Given the description of an element on the screen output the (x, y) to click on. 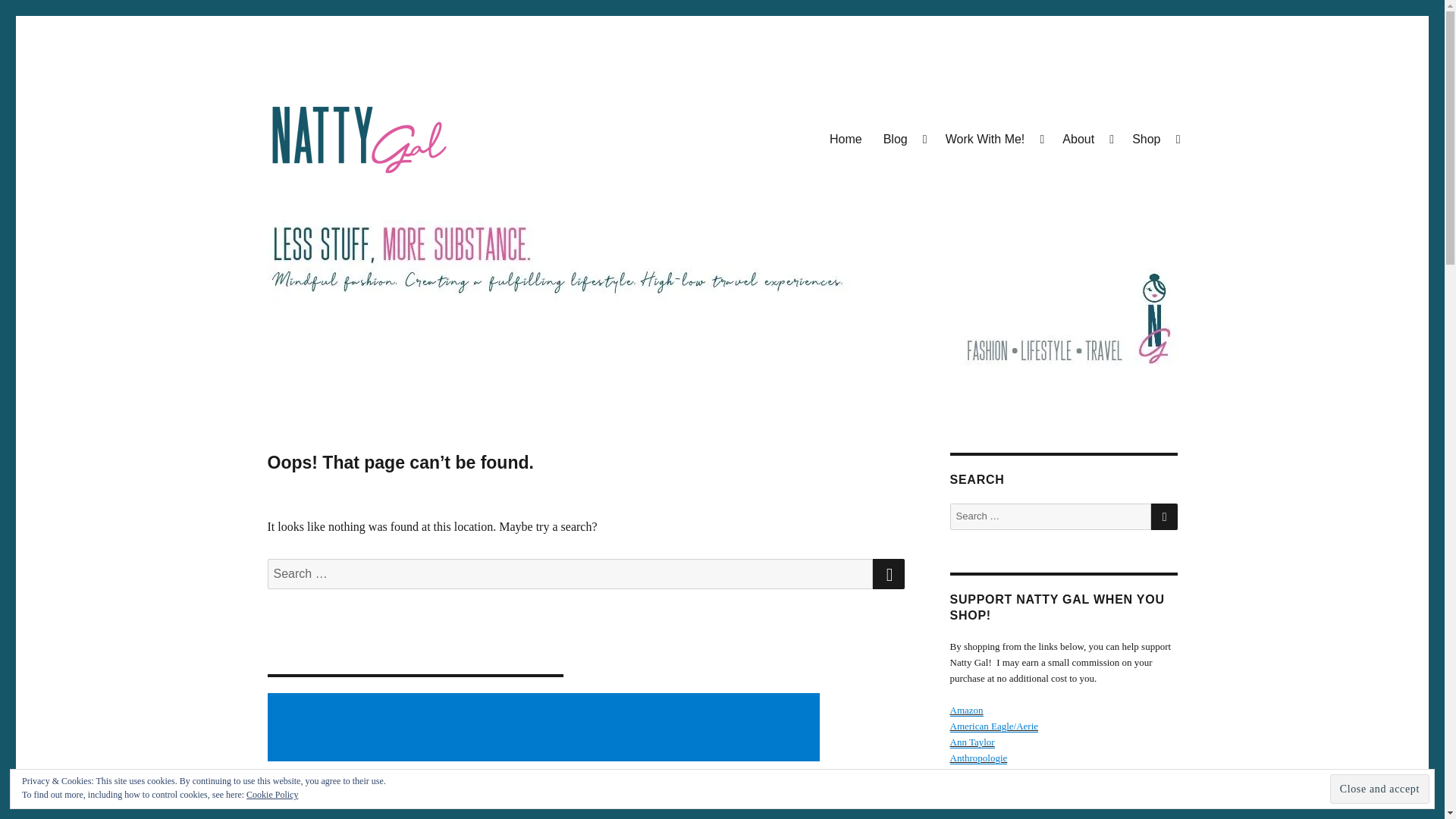
Advertisement (545, 728)
Anthropologie (978, 757)
Shop (1154, 138)
Blog (903, 138)
Amazon (965, 709)
About (1086, 138)
Work With Me! (993, 138)
Natty Gal (312, 200)
SEARCH (1164, 516)
Ann Taylor (971, 741)
Close and accept (1379, 788)
Home (845, 138)
SEARCH (888, 573)
